Given the description of an element on the screen output the (x, y) to click on. 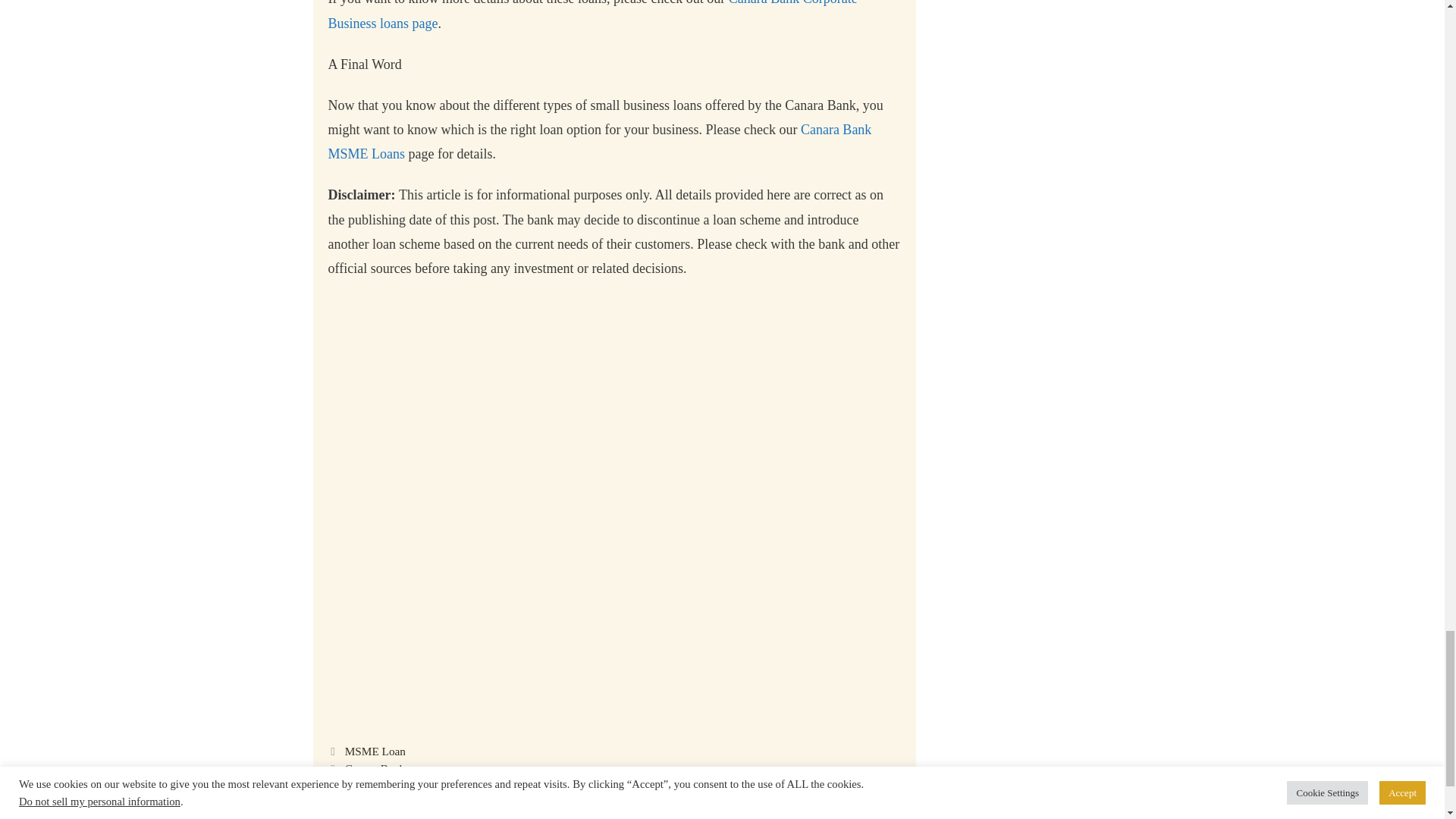
Canara Bank (374, 768)
Canara Bank MSME Loans (598, 141)
What is a MUDRA Loan? Everything You Need to Know (478, 785)
Canara Bank Corporate Business loans page (592, 15)
MSME Loan (375, 750)
